Given the description of an element on the screen output the (x, y) to click on. 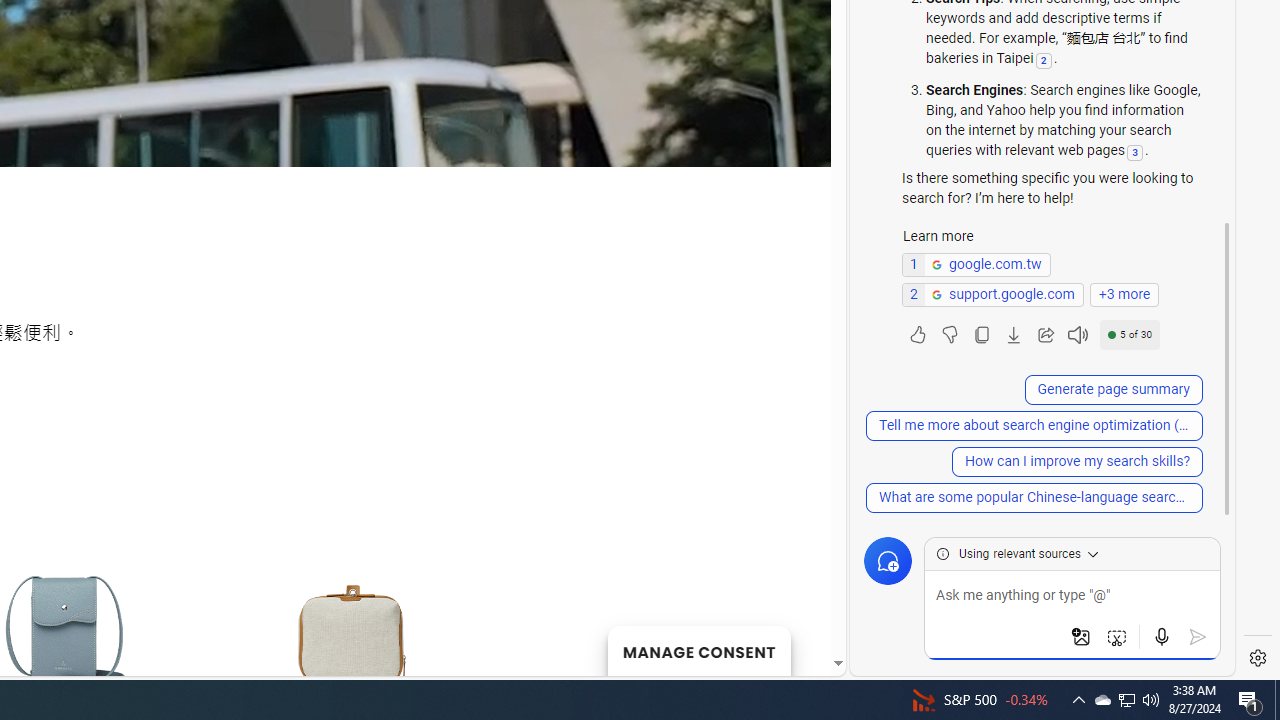
MANAGE CONSENT (698, 650)
